Given the description of an element on the screen output the (x, y) to click on. 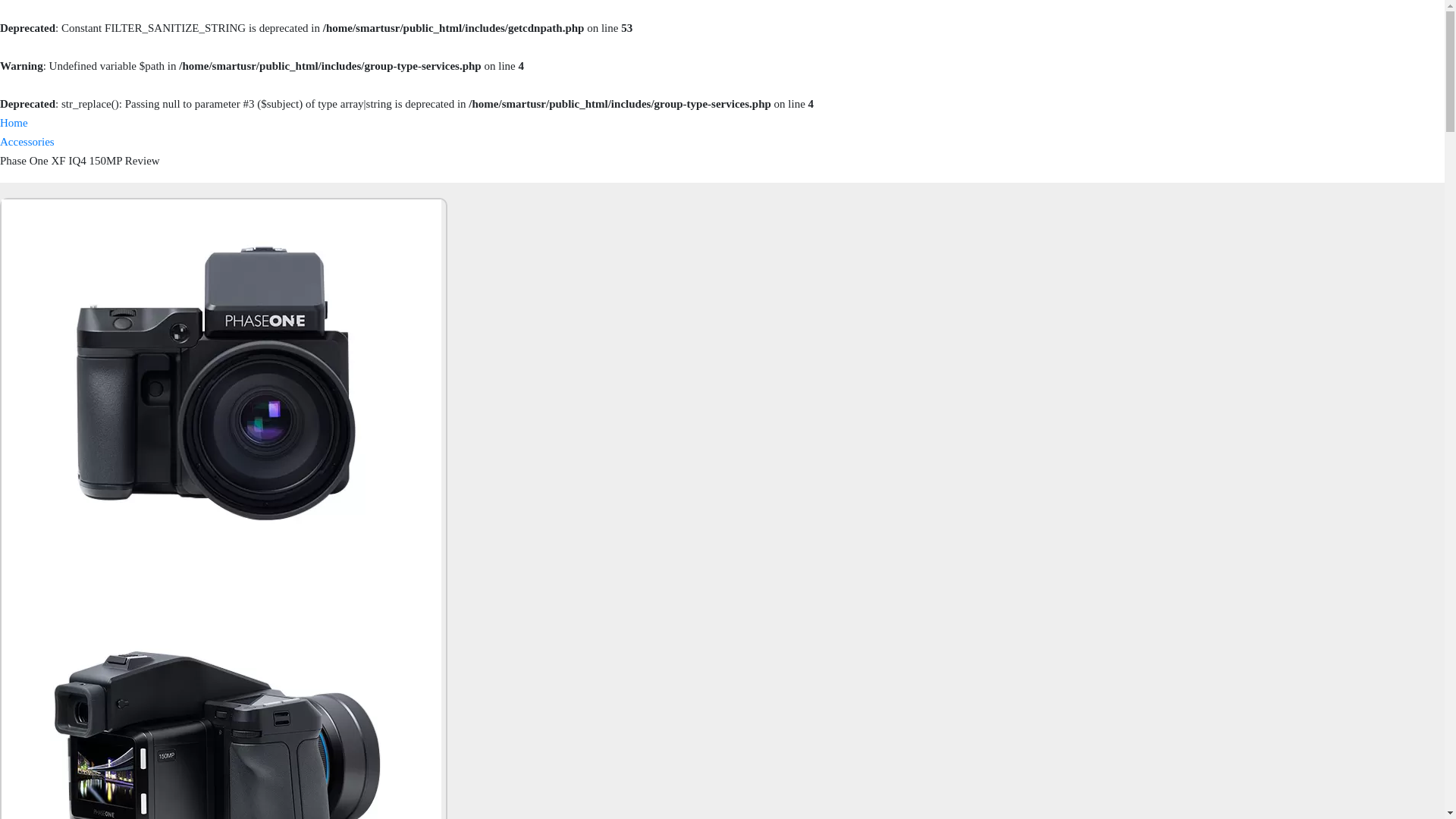
Accessories (27, 141)
Home (13, 122)
Prespective 2 (221, 694)
